Given the description of an element on the screen output the (x, y) to click on. 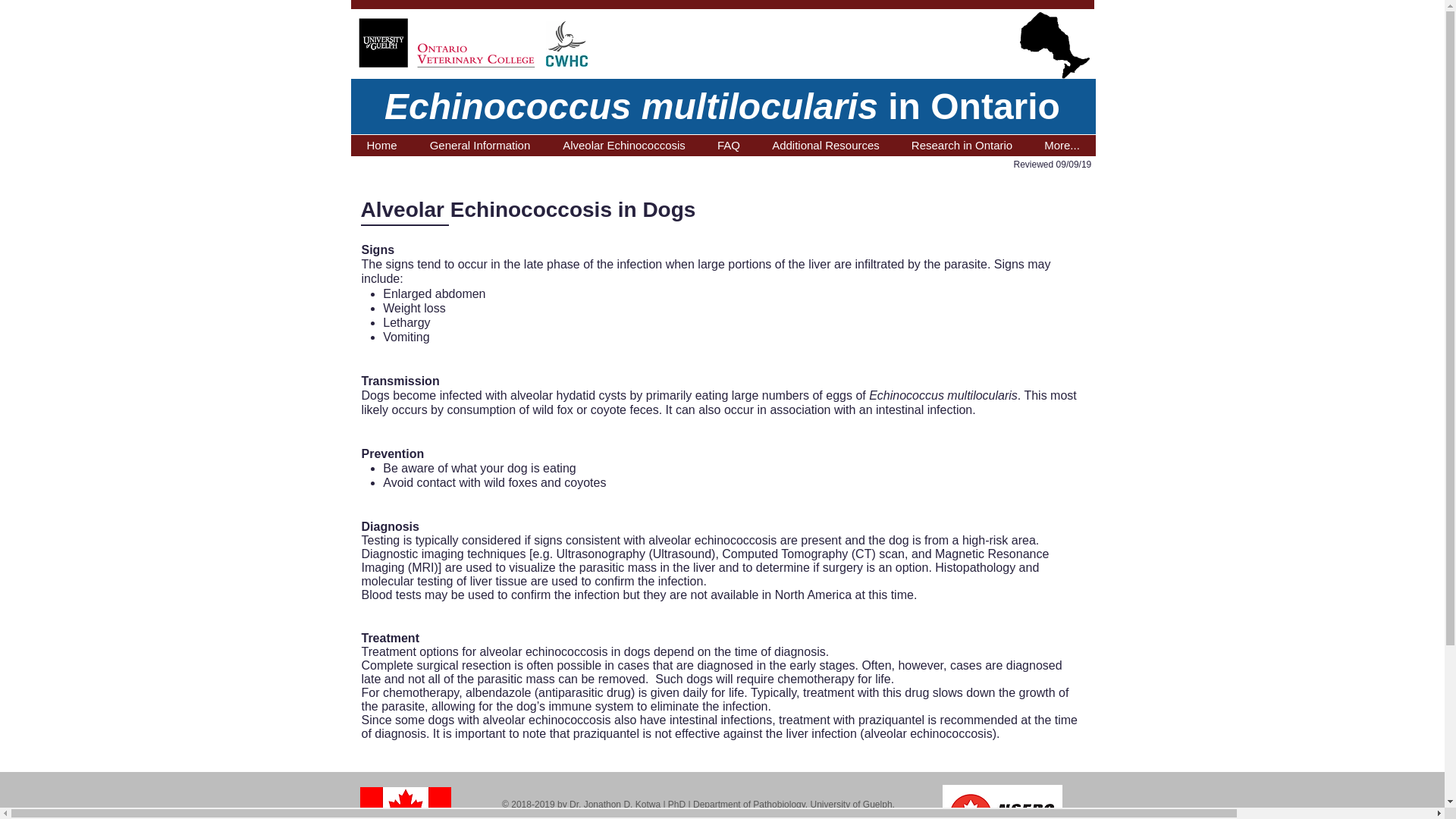
FAQ (727, 145)
Alveolar Echinococcosis (623, 145)
Additional Resources (825, 145)
Home (381, 145)
General Information (479, 145)
